Given the description of an element on the screen output the (x, y) to click on. 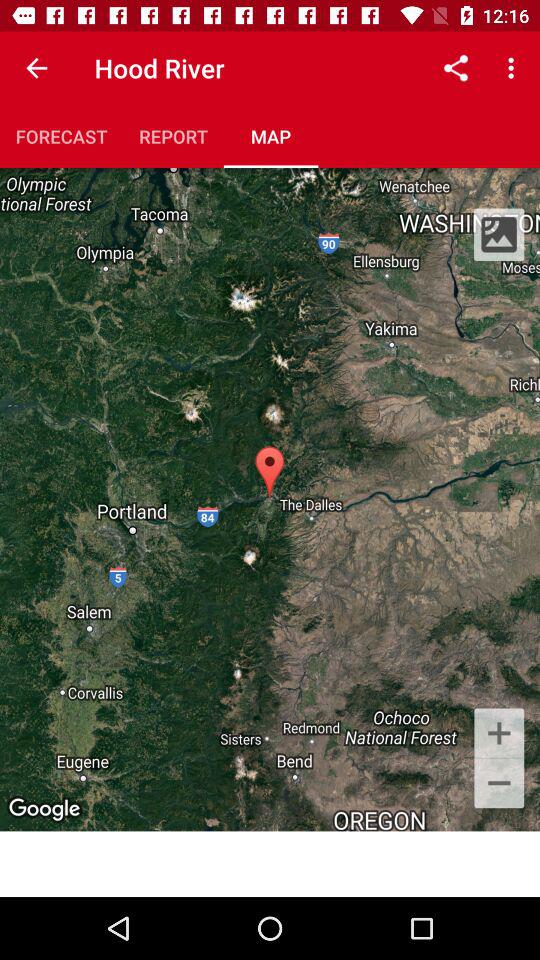
turn on the item below forecast (270, 499)
